Given the description of an element on the screen output the (x, y) to click on. 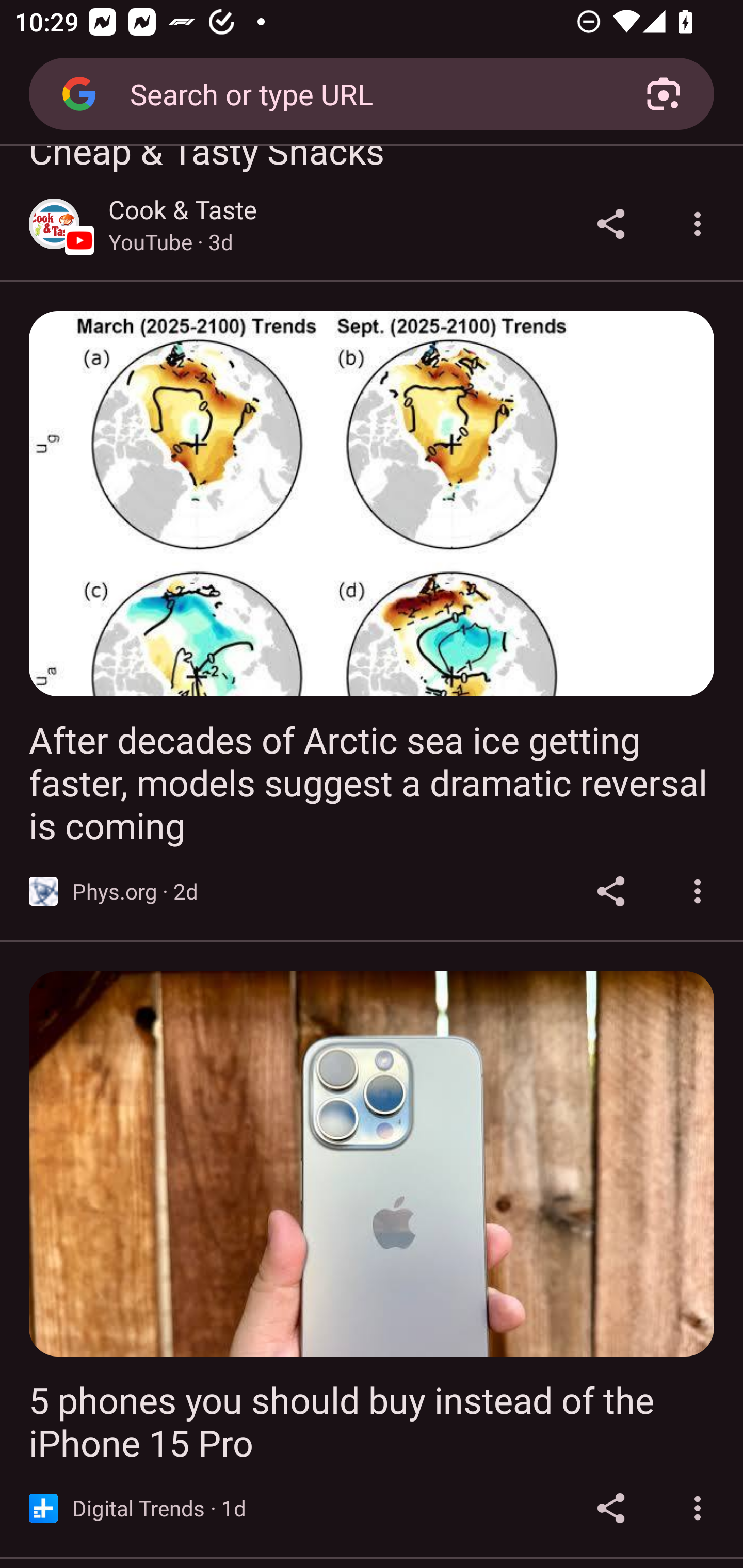
Search with your camera using Google Lens (663, 93)
Search or type URL (364, 92)
